Given the description of an element on the screen output the (x, y) to click on. 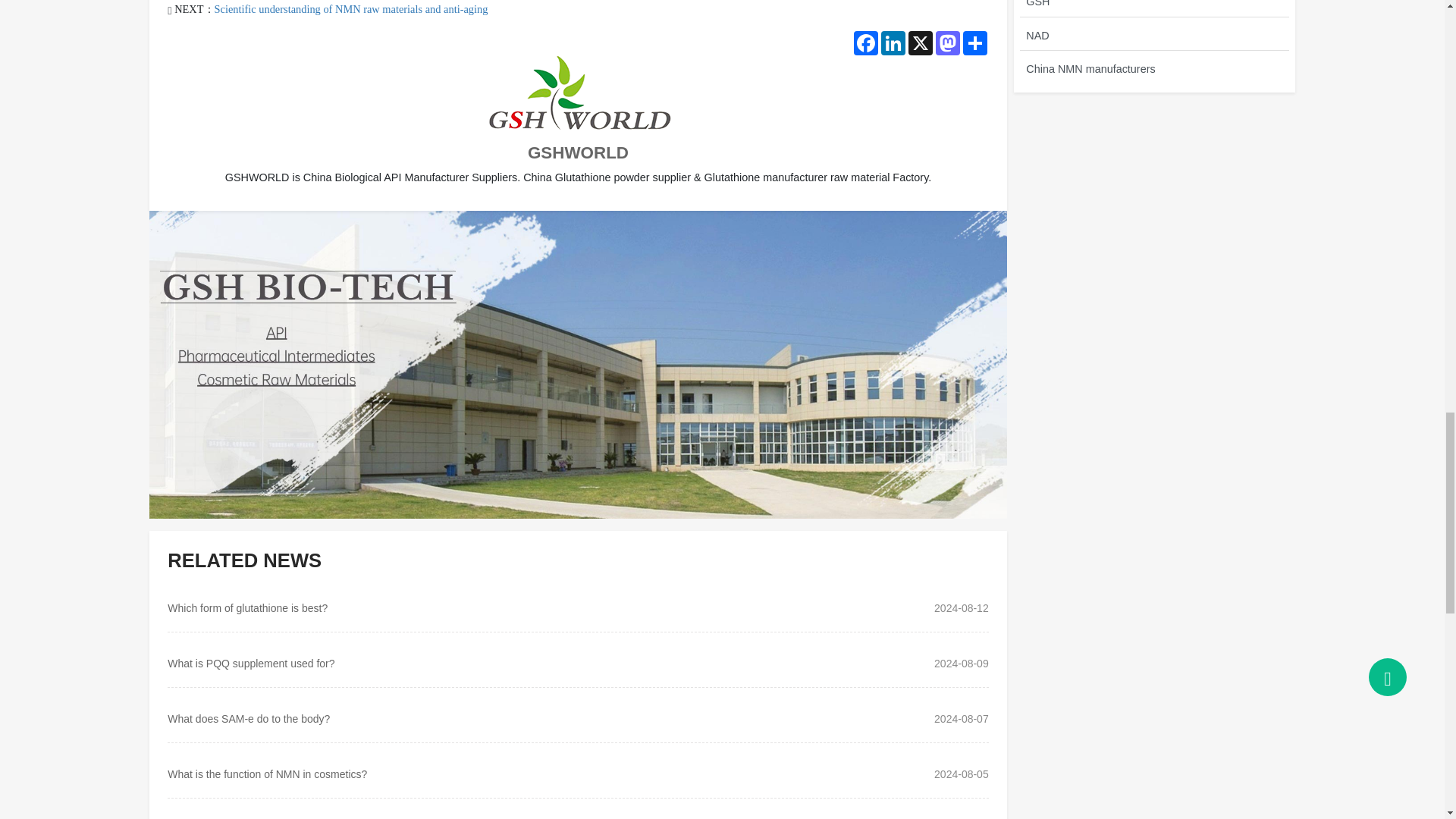
What is PQQ supplement used for? (250, 663)
Which form of glutathione is best? (247, 607)
What does SAM-e do to the body? (248, 718)
What is the function of NMN in cosmetics? (266, 774)
